Given the description of an element on the screen output the (x, y) to click on. 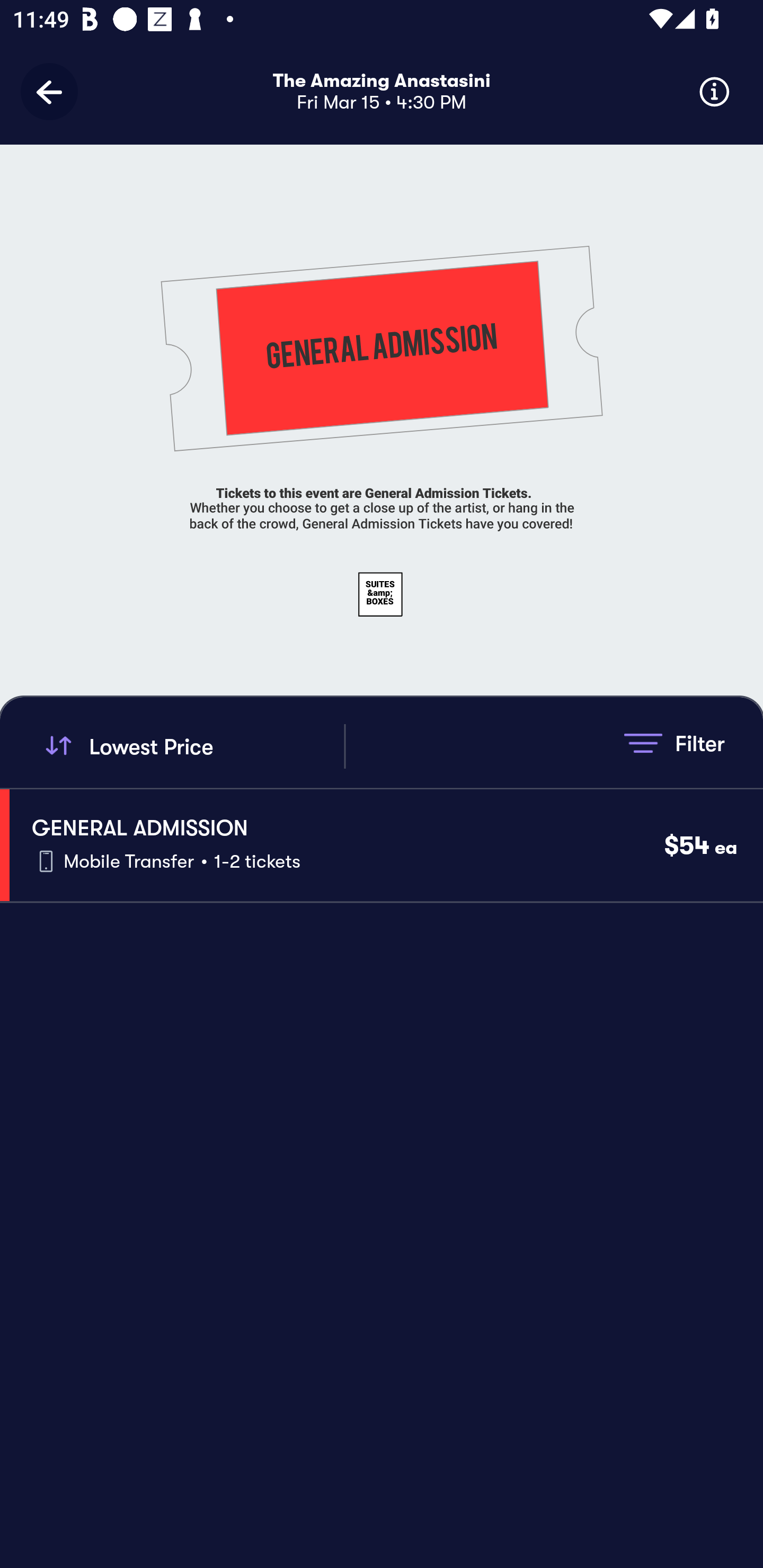
Lowest Price (191, 746)
Filter (674, 743)
